Given the description of an element on the screen output the (x, y) to click on. 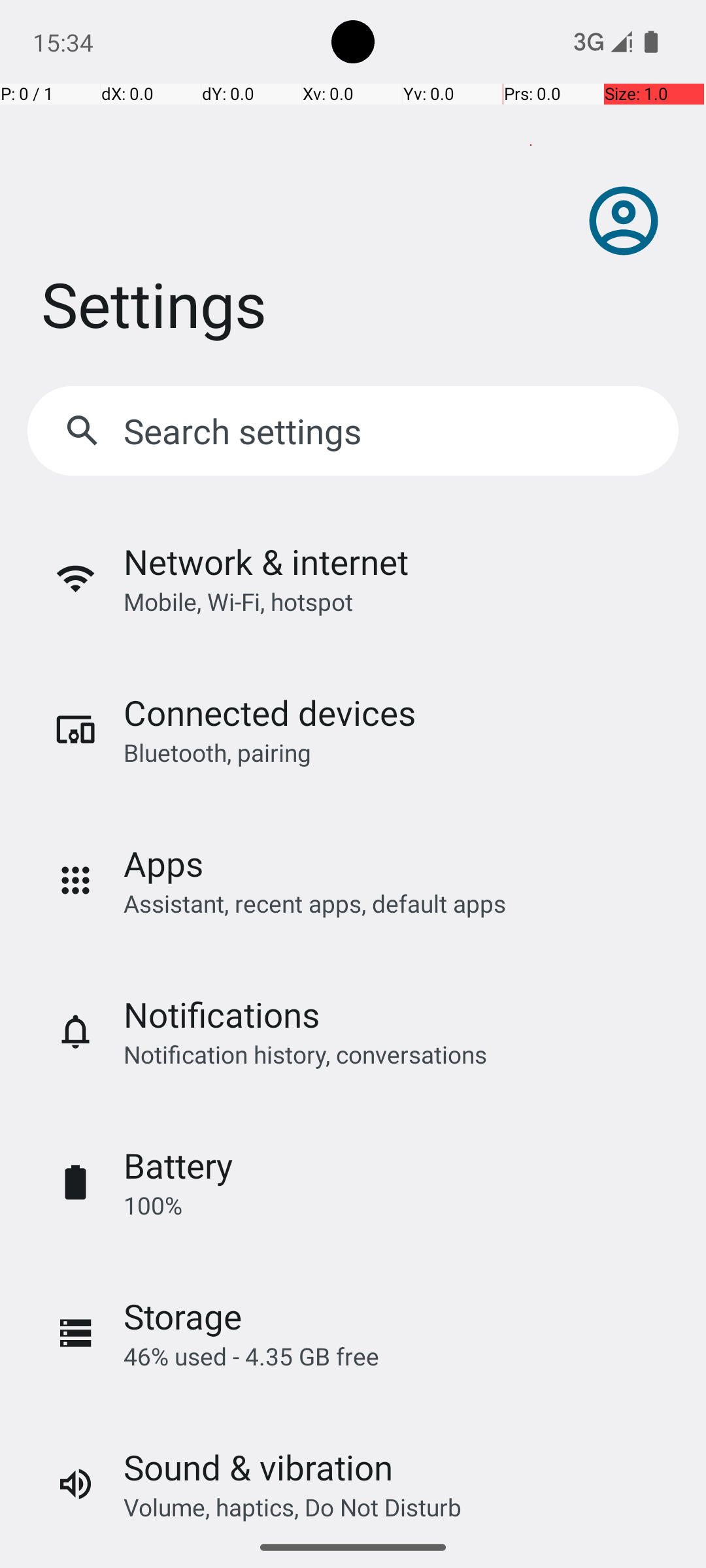
46% used - 4.35 GB free Element type: android.widget.TextView (251, 1355)
